Given the description of an element on the screen output the (x, y) to click on. 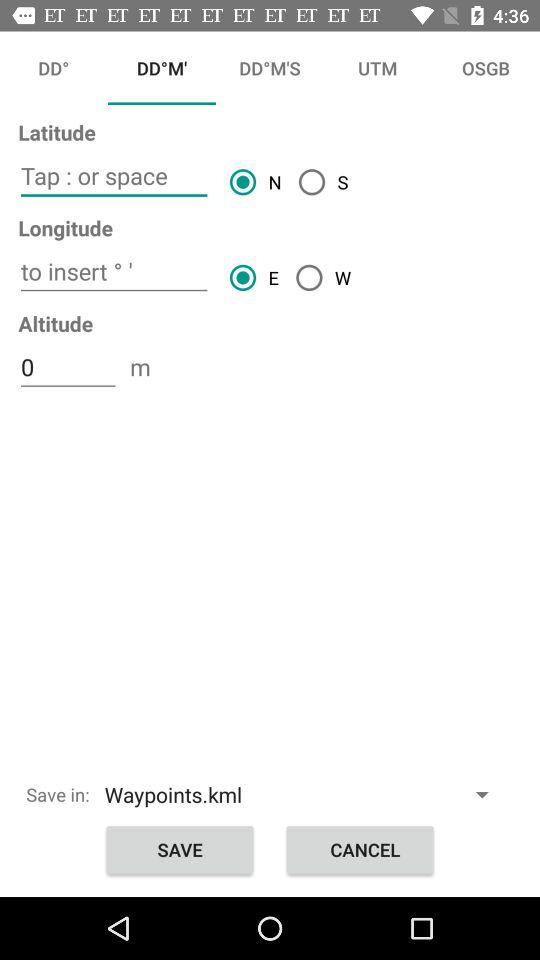
go to insert (113, 271)
